Given the description of an element on the screen output the (x, y) to click on. 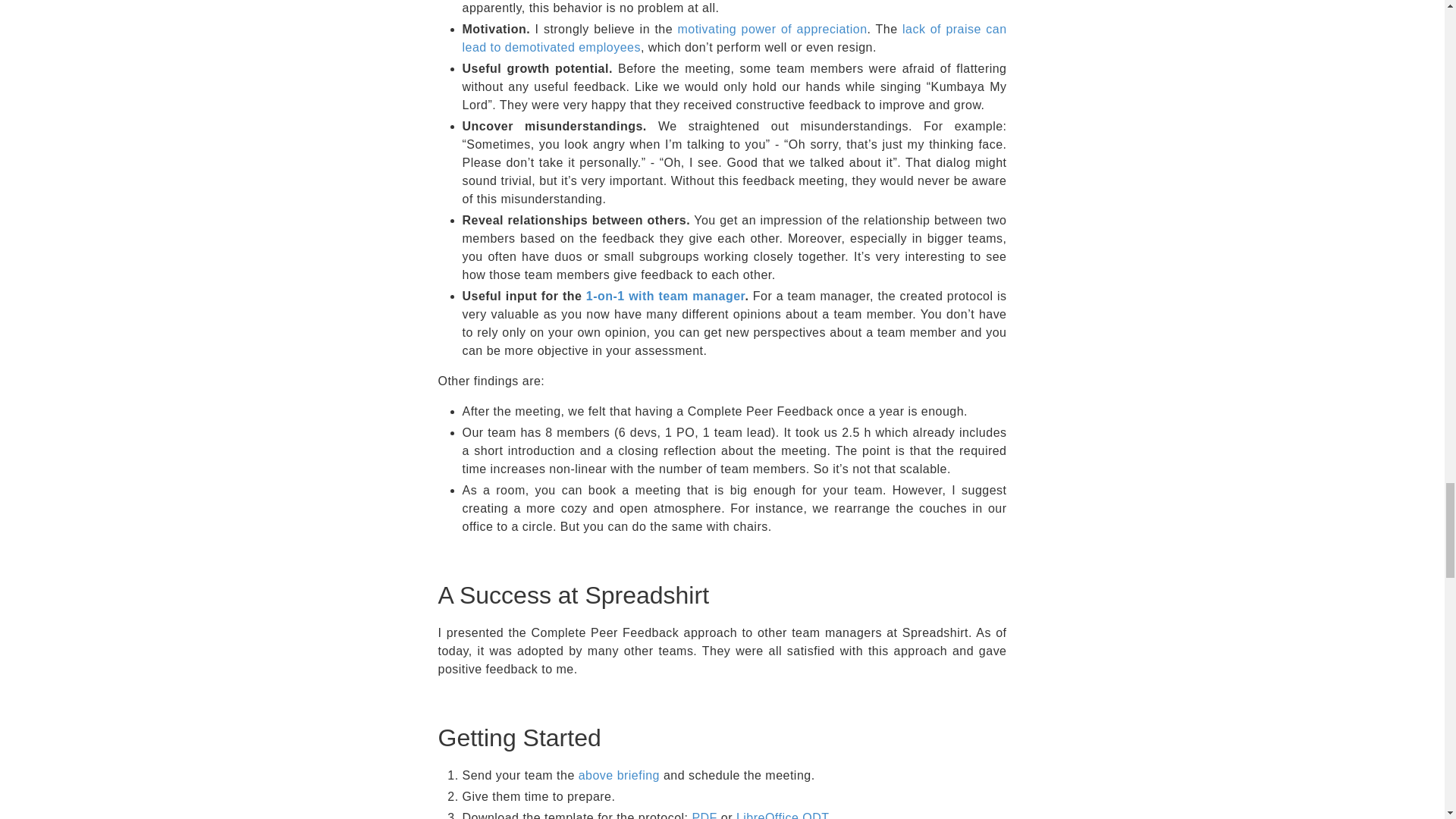
1-on-1 with team manager (665, 295)
motivating power of appreciation (771, 29)
lack of praise can lead to demotivated employees (735, 38)
above briefing (618, 775)
LibreOffice ODT (782, 815)
PDF (703, 815)
